Given the description of an element on the screen output the (x, y) to click on. 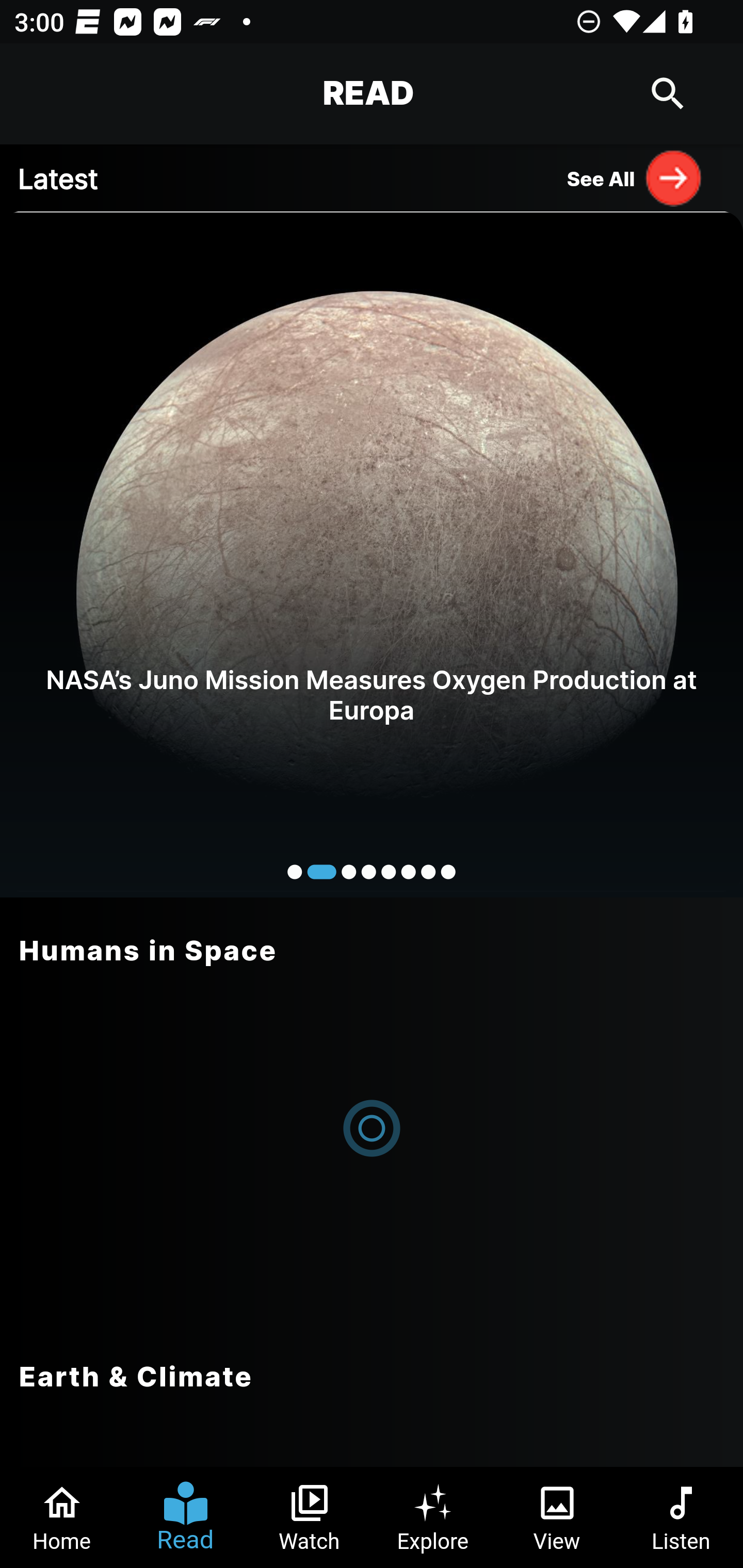
See All (634, 177)
Home
Tab 1 of 6 (62, 1517)
Read
Tab 2 of 6 (185, 1517)
Watch
Tab 3 of 6 (309, 1517)
Explore
Tab 4 of 6 (433, 1517)
View
Tab 5 of 6 (556, 1517)
Listen
Tab 6 of 6 (680, 1517)
